Given the description of an element on the screen output the (x, y) to click on. 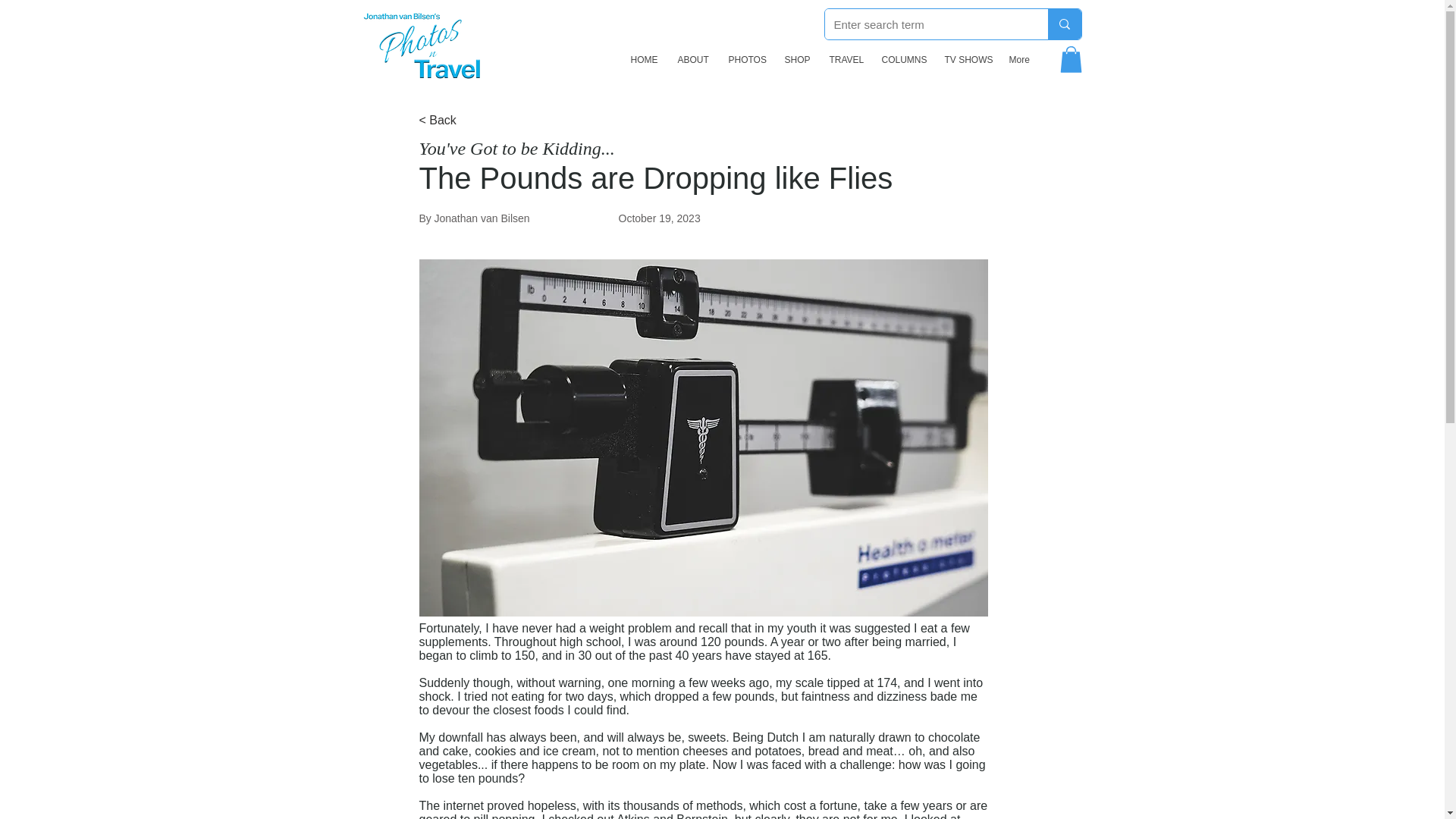
jvblogo.png (422, 43)
HOME (641, 59)
SHOP (795, 59)
TV SHOWS (965, 59)
COLUMNS (901, 59)
TRAVEL (842, 59)
PHOTOS (745, 59)
ABOUT (690, 59)
